Given the description of an element on the screen output the (x, y) to click on. 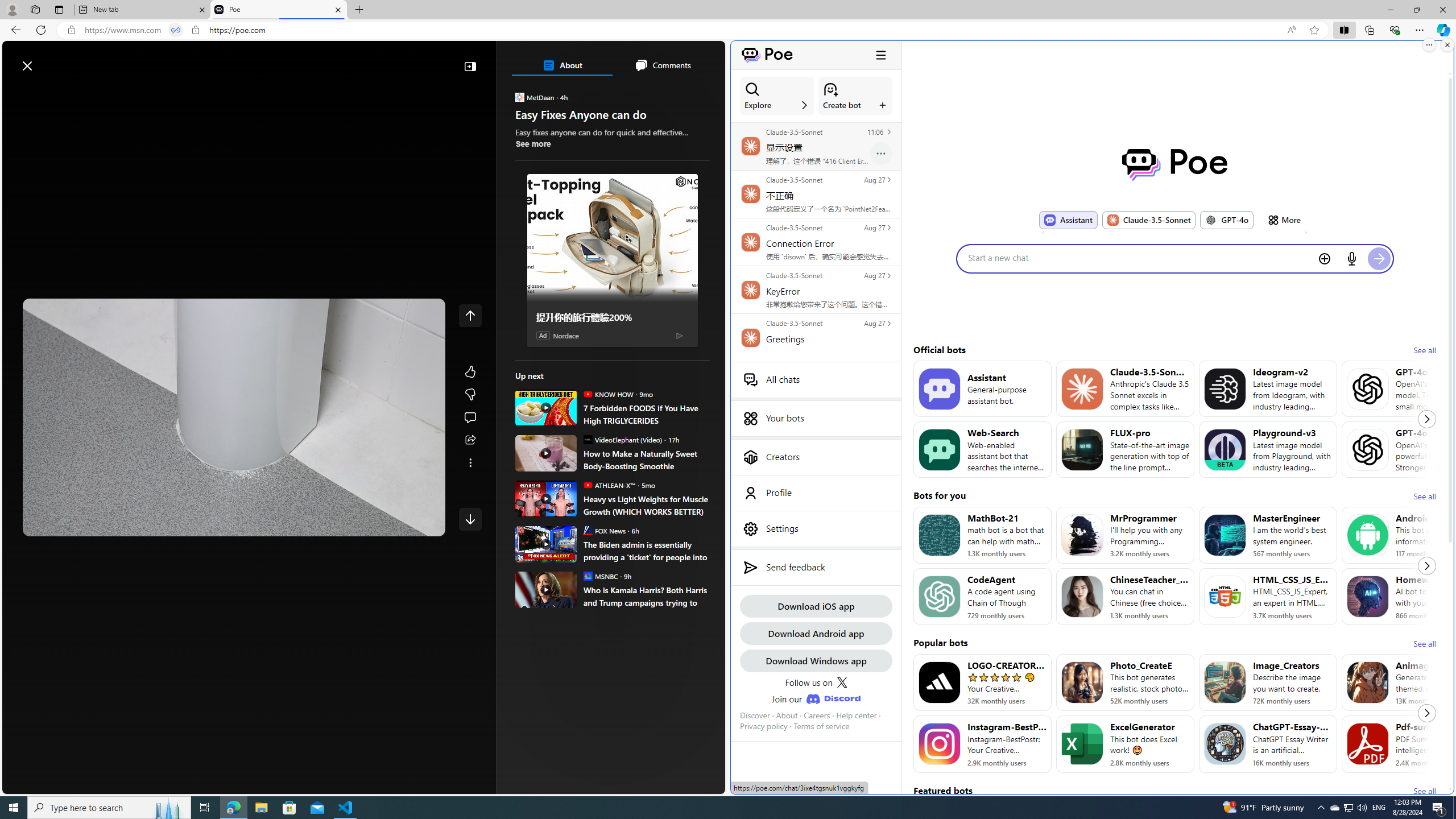
Unmute (427, 523)
Class: ChatHistoryListItem_chevronIcon__zJZSN (888, 322)
Class: JoinDiscordLink_discordIcon__Xw13A (833, 698)
Create bot (855, 95)
MSNBC (587, 575)
See all (1424, 790)
Tabs in split screen (175, 29)
About (561, 64)
